Given the description of an element on the screen output the (x, y) to click on. 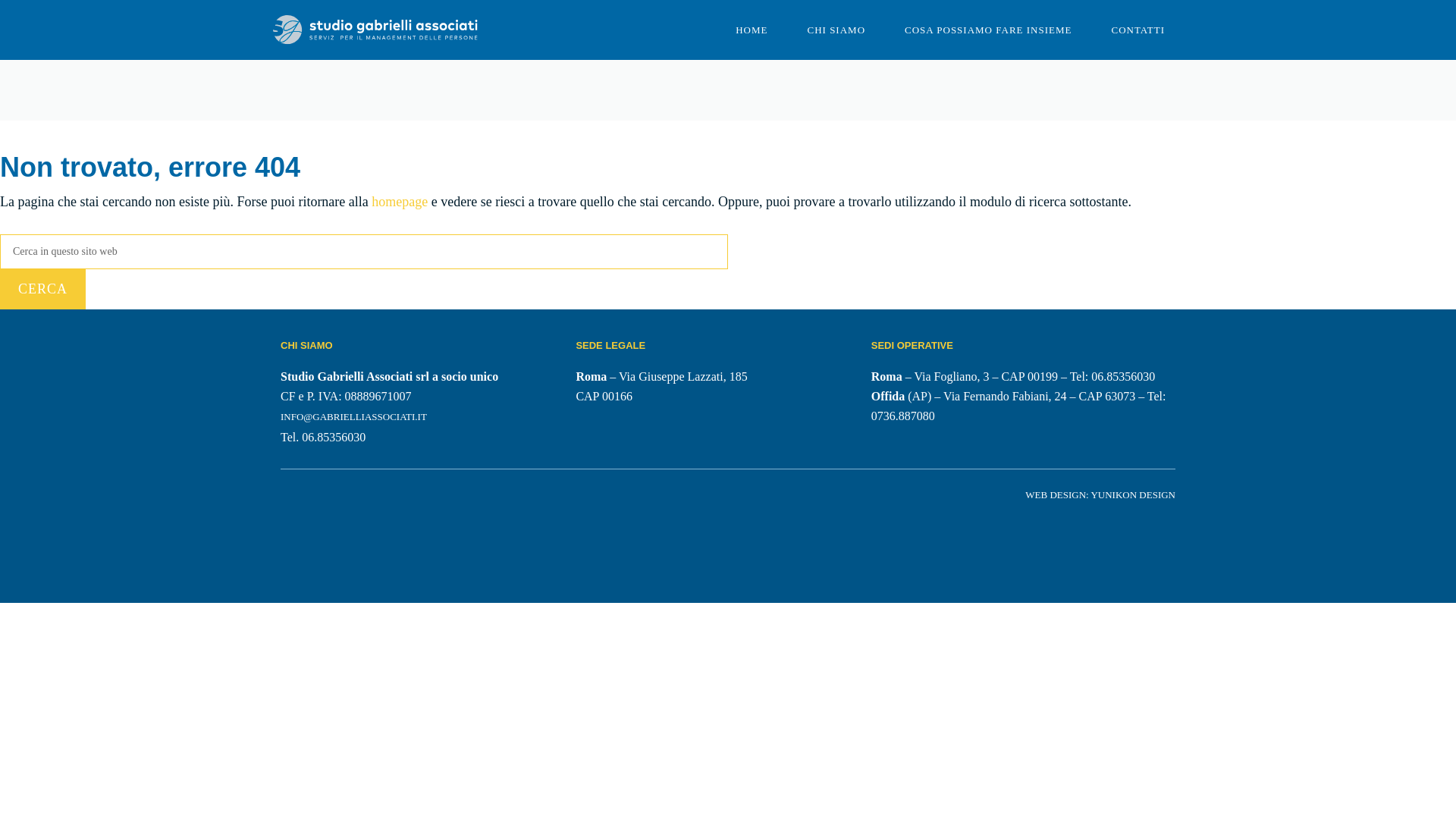
Gabrielli Associati (375, 30)
Cerca (42, 289)
HOME (751, 29)
Cerca (42, 289)
CONTATTI (1137, 29)
homepage (399, 201)
WEB DESIGN: YUNIKON DESIGN (1099, 494)
COSA POSSIAMO FARE INSIEME (987, 29)
CHI SIAMO (836, 29)
Cerca (42, 289)
Gabrielli Associati (375, 29)
